Given the description of an element on the screen output the (x, y) to click on. 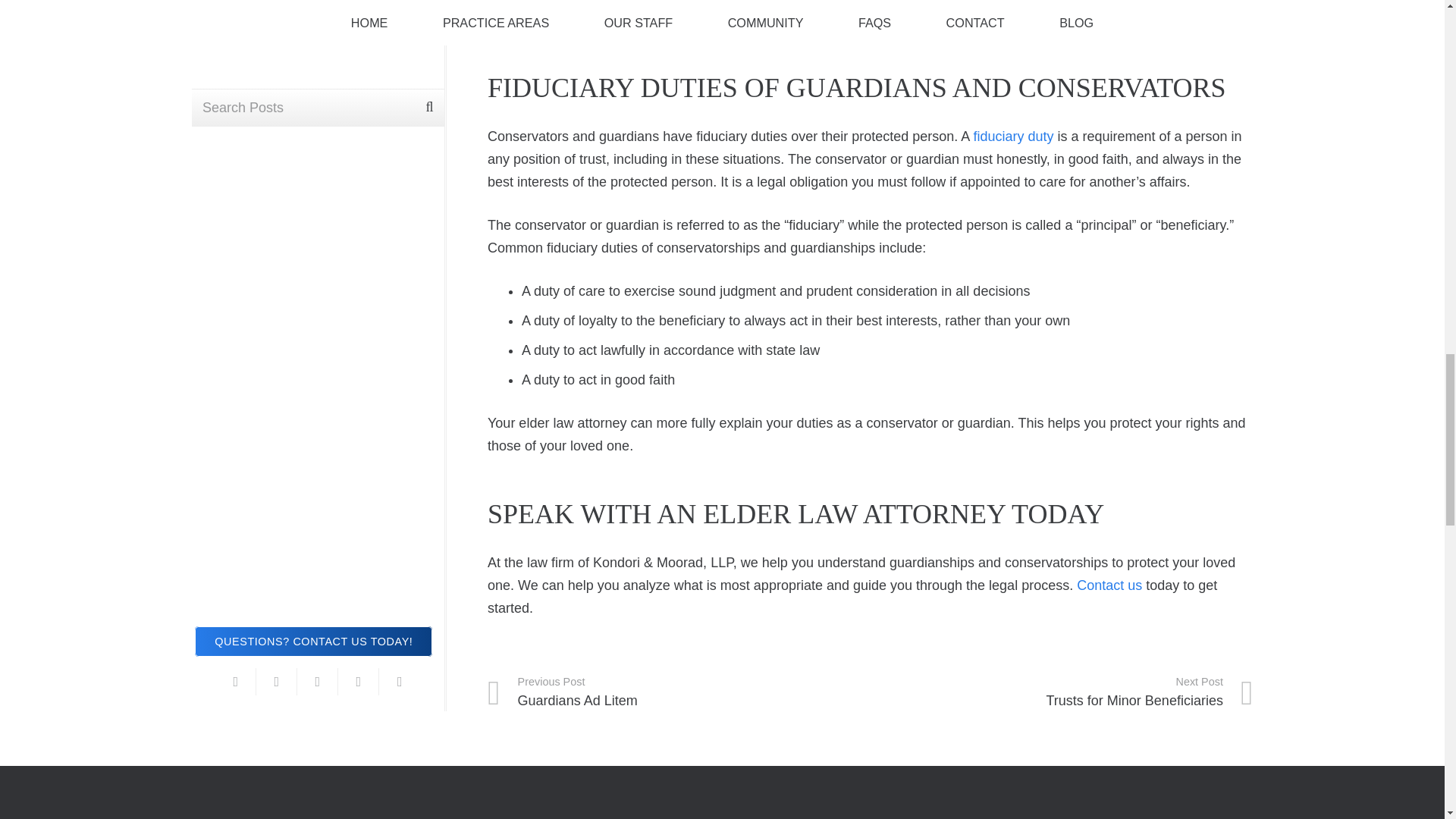
Trusts for Minor Beneficiaries (678, 692)
Contact us (1061, 692)
fiduciary duty (1061, 692)
Guardians Ad Litem (1109, 585)
